Given the description of an element on the screen output the (x, y) to click on. 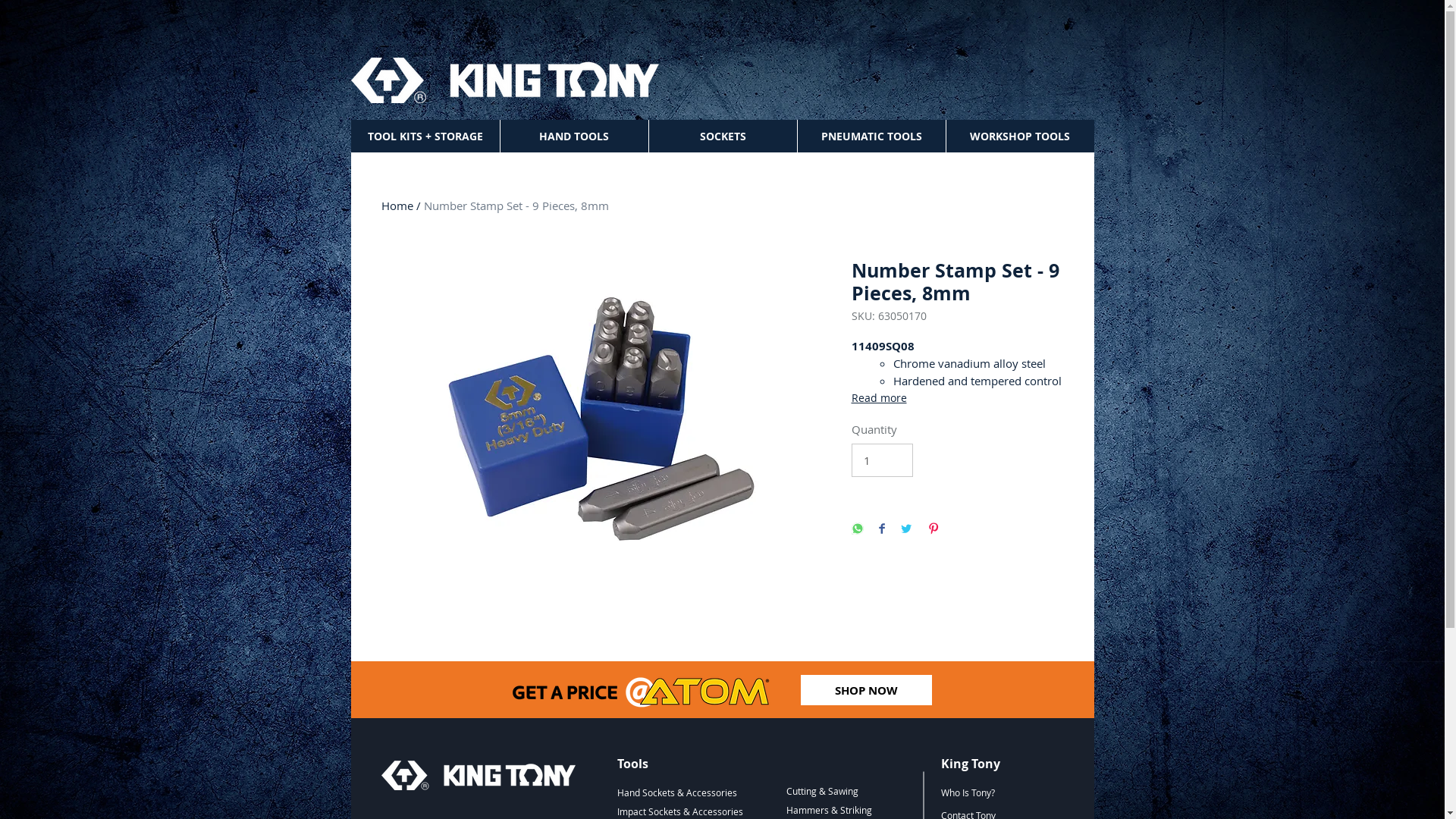
Home Element type: text (396, 205)
Hand Sockets & Accessories Element type: text (677, 792)
Nothings As Tough As Tony Element type: hover (477, 775)
Site Search Element type: hover (882, 83)
Cutting & Sawing Element type: text (821, 790)
Number Stamp Set - 9 Pieces, 8mm Element type: text (515, 205)
Read more Element type: text (956, 397)
Who Is Tony? Element type: text (967, 792)
Hammers & Striking  Element type: text (829, 809)
SHOP NOW Element type: text (865, 689)
PNEUMATIC TOOLS Element type: text (870, 135)
WORKSHOP TOOLS Element type: text (1018, 135)
Impact Sockets & Accessories Element type: text (680, 811)
